Given the description of an element on the screen output the (x, y) to click on. 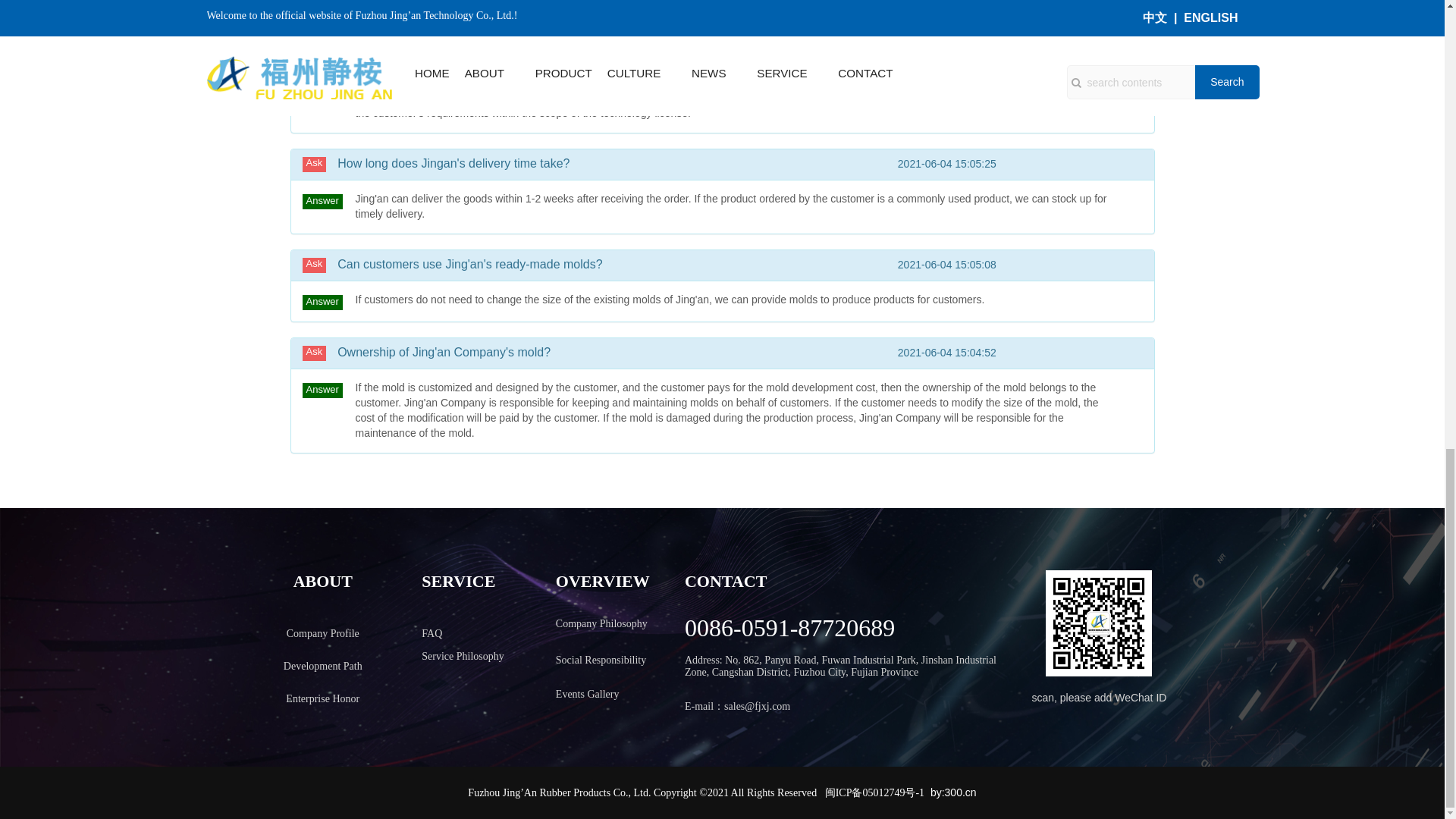
Company Profile (322, 633)
0086-0591-87720689 (789, 632)
Service Philosophy (462, 655)
300.cn (960, 792)
Events Gallery (588, 693)
Social Responsibility (601, 659)
Development Path (322, 665)
Company Philosophy (601, 623)
Enterprise Honor (322, 698)
FAQ (432, 633)
